Given the description of an element on the screen output the (x, y) to click on. 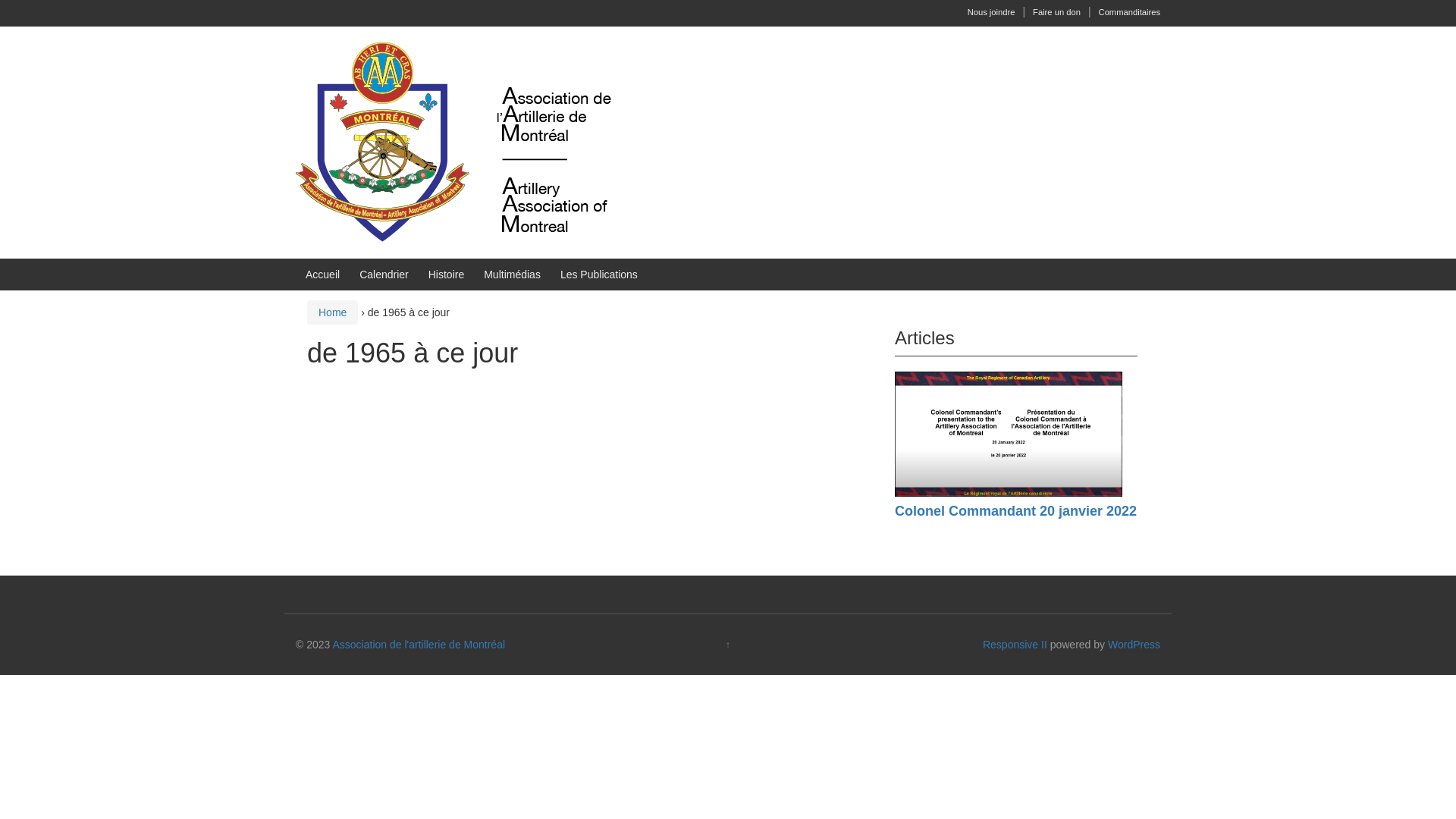
Home Element type: text (332, 312)
Les Publications Element type: text (598, 274)
Commanditaires Element type: text (1129, 11)
Histoire Element type: text (446, 274)
Responsive II Element type: text (1014, 644)
Calendrier Element type: text (383, 274)
Colonel Commandant 20 janvier 2022 Element type: text (1015, 510)
Accueil Element type: text (322, 274)
WordPress Element type: text (1133, 644)
Faire un don Element type: text (1056, 11)
Nous joindre Element type: text (991, 11)
